Given the description of an element on the screen output the (x, y) to click on. 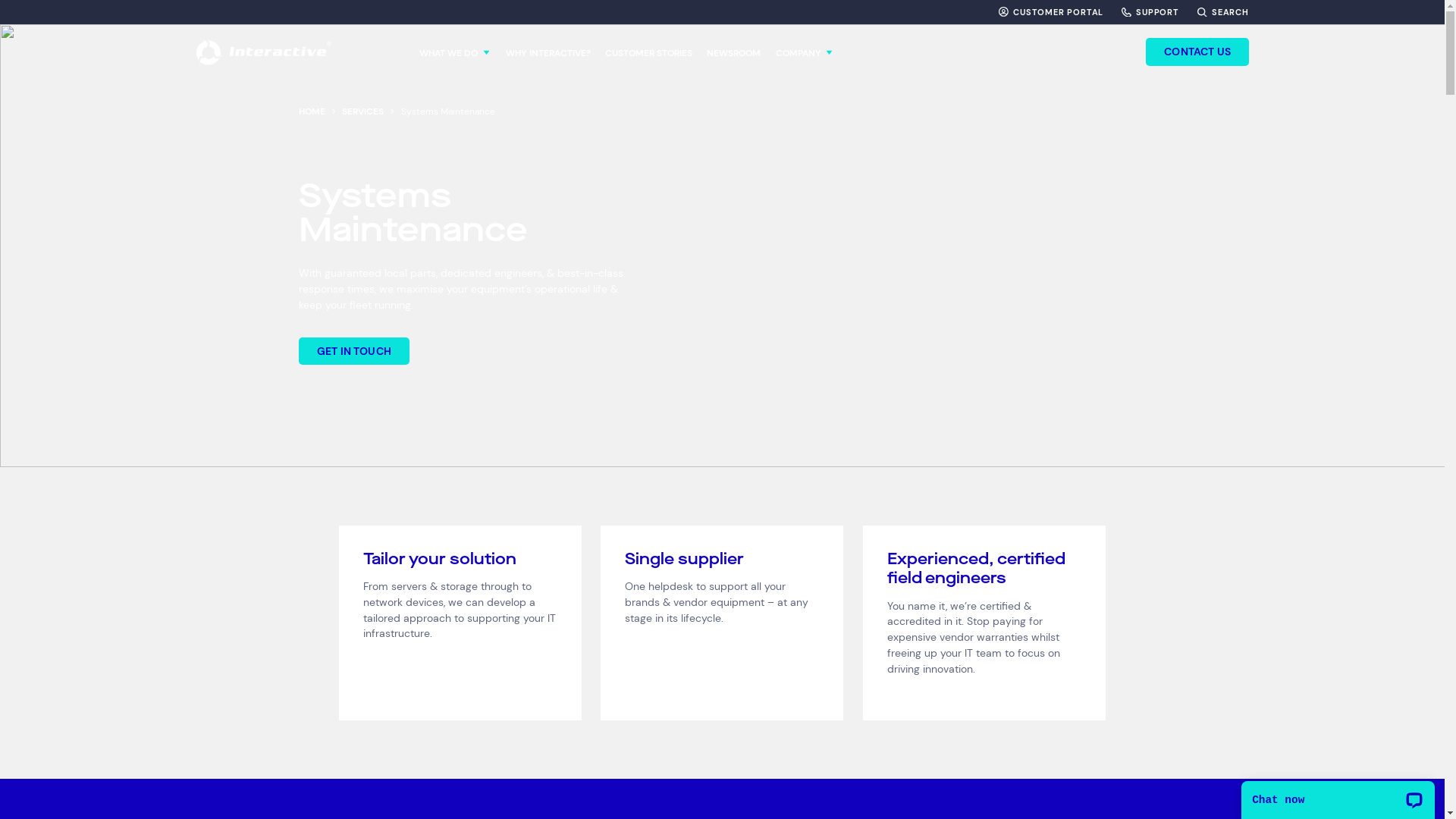
WHY INTERACTIVE? Element type: text (547, 51)
HOME Element type: text (311, 111)
CUSTOMER PORTAL Element type: text (1050, 12)
NEWSROOM Element type: text (733, 51)
Interactive Element type: hover (263, 51)
COMPANY Element type: text (804, 51)
GET IN TOUCH Element type: text (353, 350)
CUSTOMER STORIES Element type: text (648, 51)
WHAT WE DO Element type: text (455, 51)
CONTACT US Element type: text (1196, 51)
SERVICES Element type: text (362, 111)
